Given the description of an element on the screen output the (x, y) to click on. 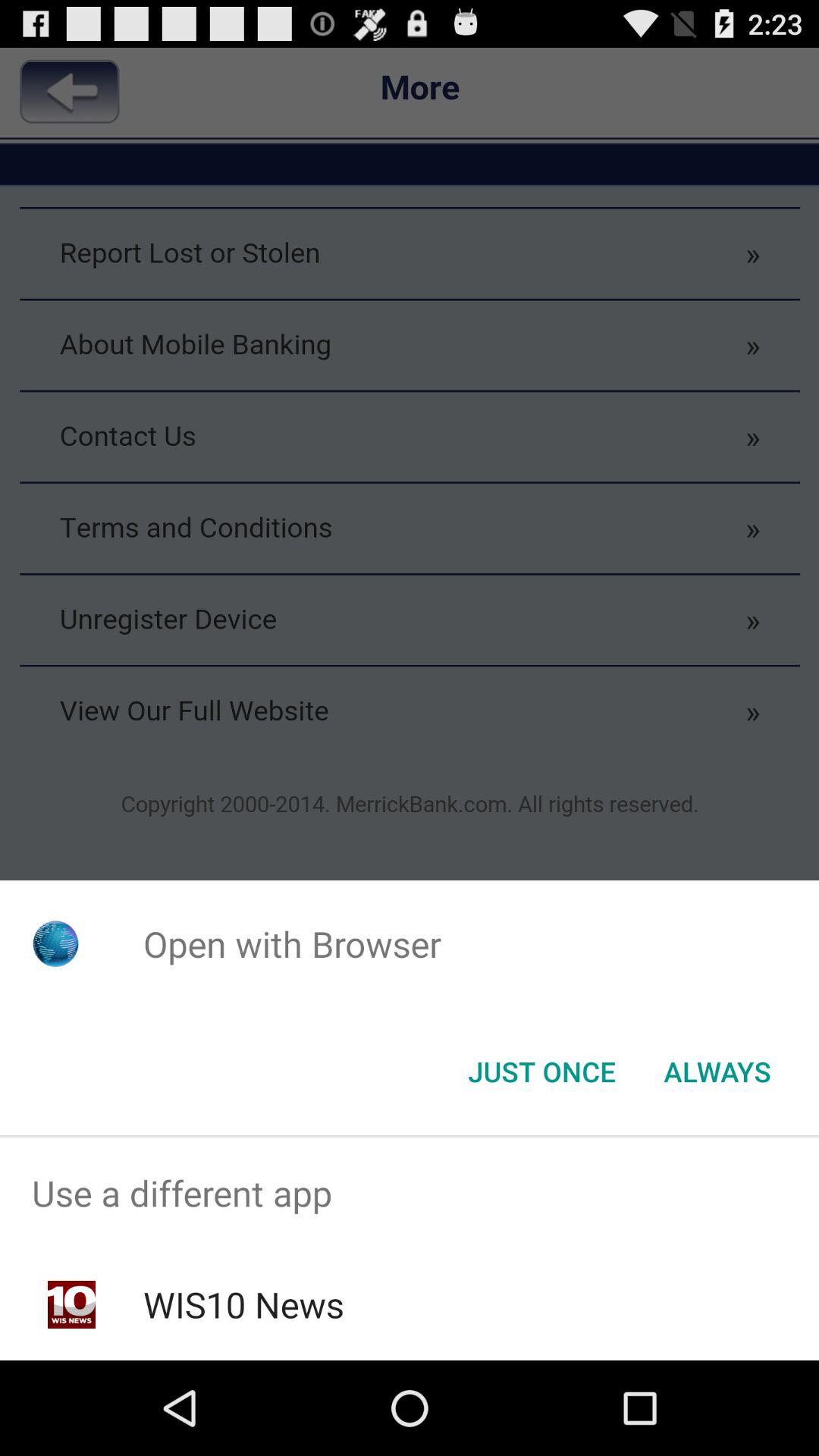
flip to the wis10 news (243, 1304)
